Given the description of an element on the screen output the (x, y) to click on. 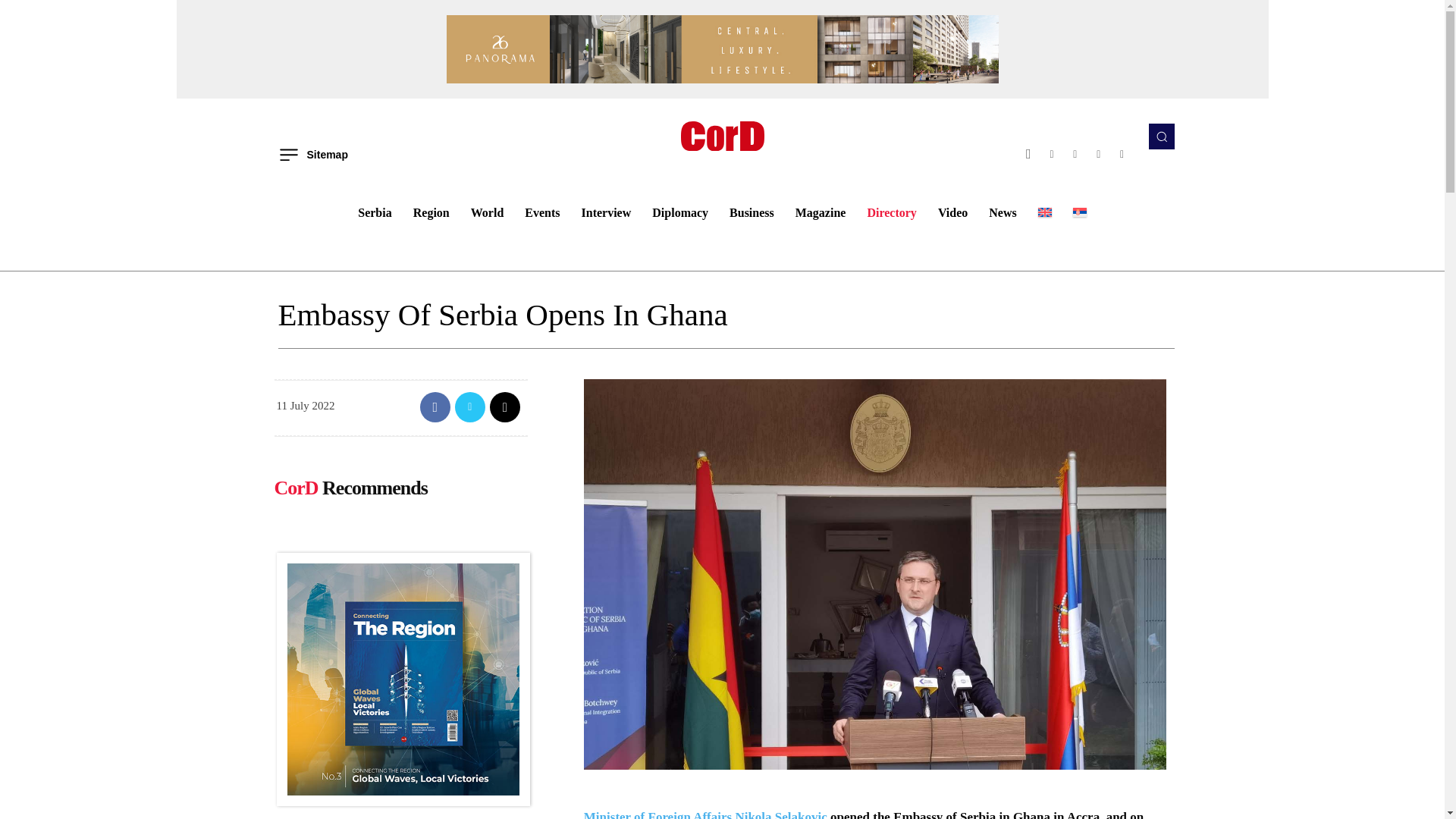
Twitter (1097, 154)
Facebook (1028, 154)
Cord Magazine (722, 135)
Instagram (1052, 154)
Linkedin (1075, 154)
Youtube (1121, 154)
